Given the description of an element on the screen output the (x, y) to click on. 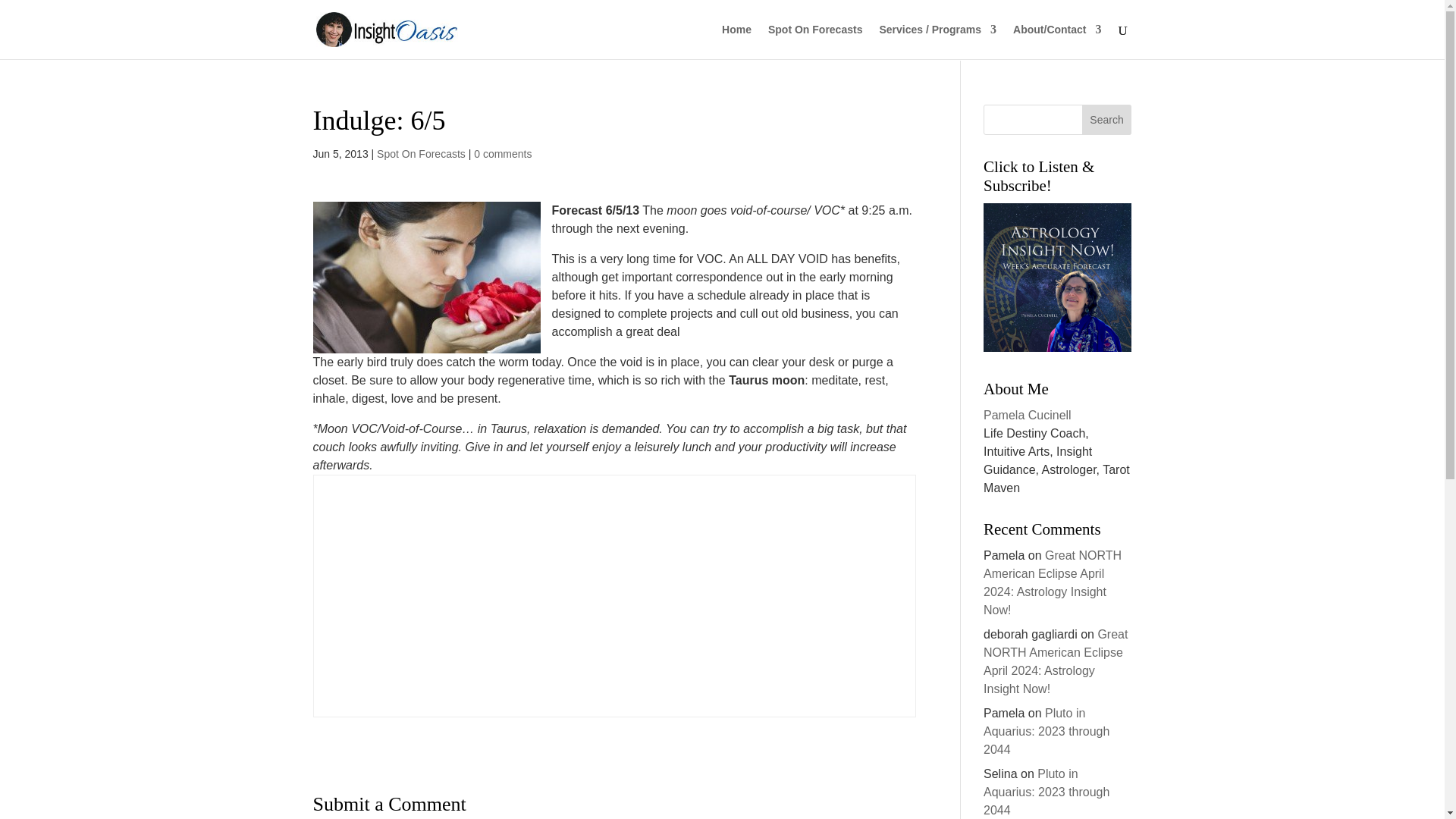
Pamela Cucinell (1027, 414)
Pluto in Aquarius: 2023 through 2044 (1046, 730)
Search (1106, 119)
Spot On Forecasts (421, 153)
Spot On Forecasts (814, 41)
Search (1106, 119)
0 comments (502, 153)
Pluto in Aquarius: 2023 through 2044 (1046, 791)
